Given the description of an element on the screen output the (x, y) to click on. 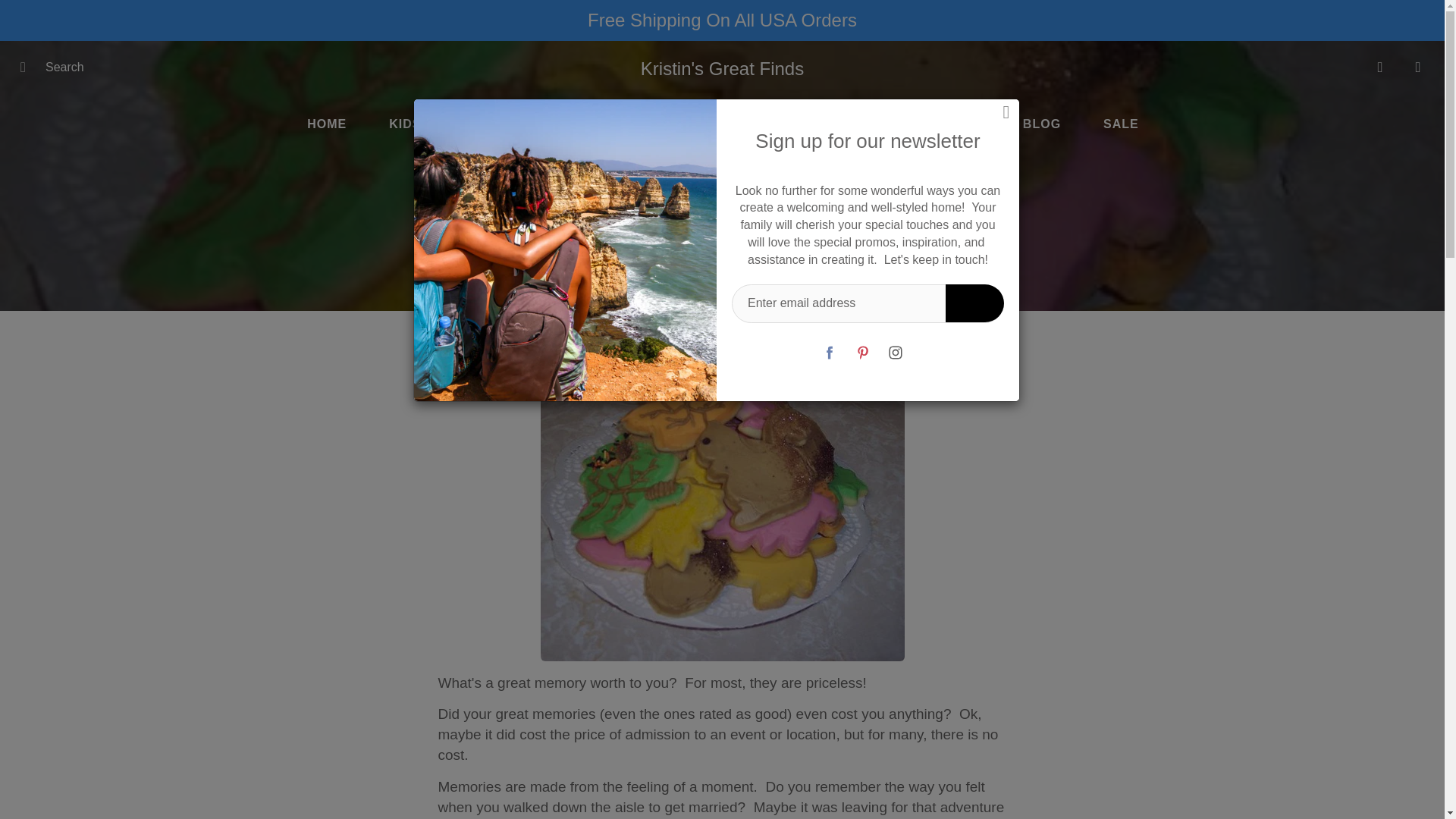
My account (1379, 67)
Kristin's Great Finds (721, 68)
HOME (325, 123)
You have 0 items in your cart (1417, 67)
Search (28, 67)
